Given the description of an element on the screen output the (x, y) to click on. 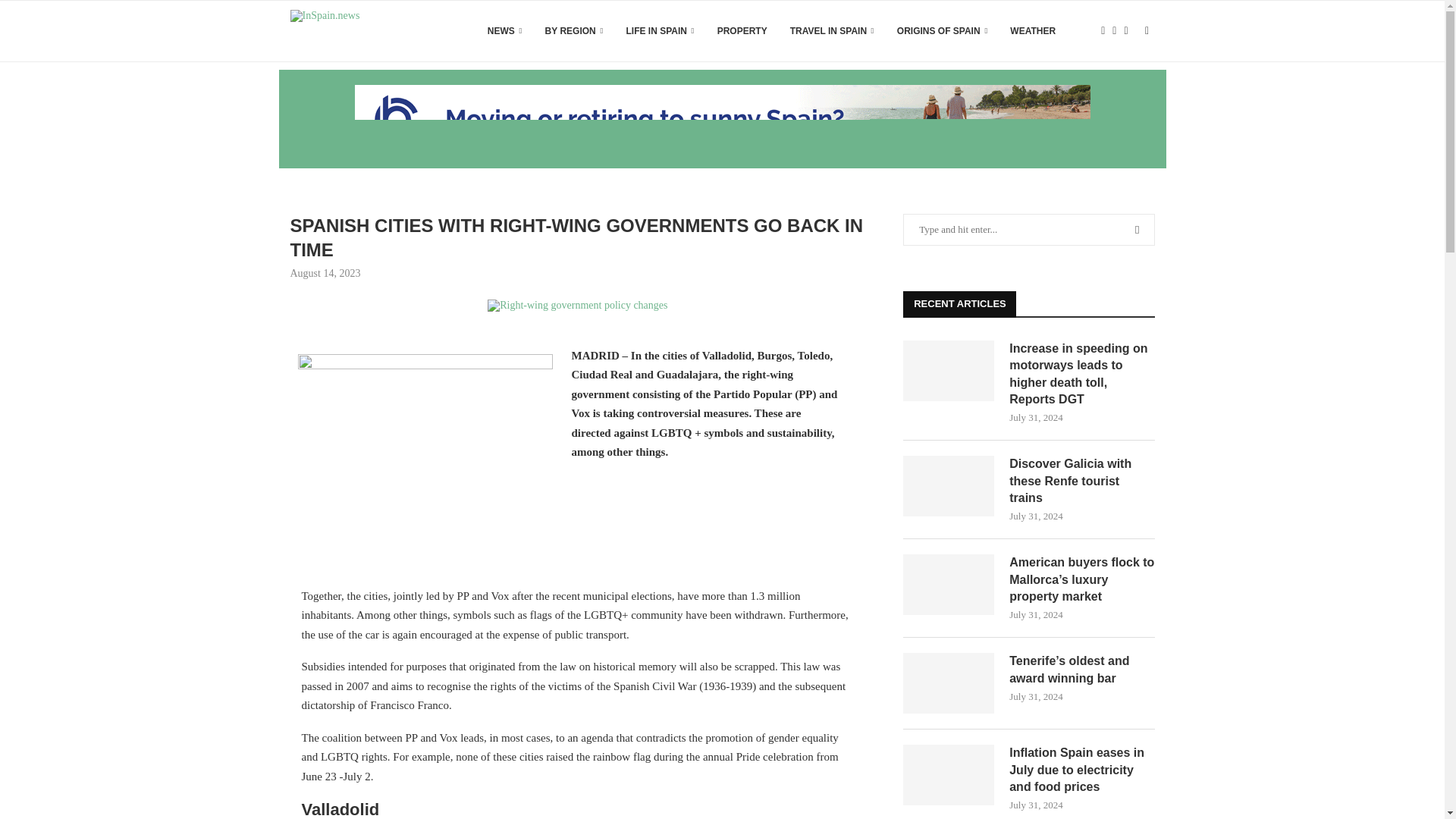
Discover Galicia with these Renfe tourist trains (948, 485)
TRAVEL IN SPAIN (832, 30)
Discover Galicia with these Renfe tourist trains (1081, 480)
LIFE IN SPAIN (660, 30)
BY REGION (574, 30)
BIKE LANE (576, 305)
ORIGINS OF SPAIN (942, 30)
